Given the description of an element on the screen output the (x, y) to click on. 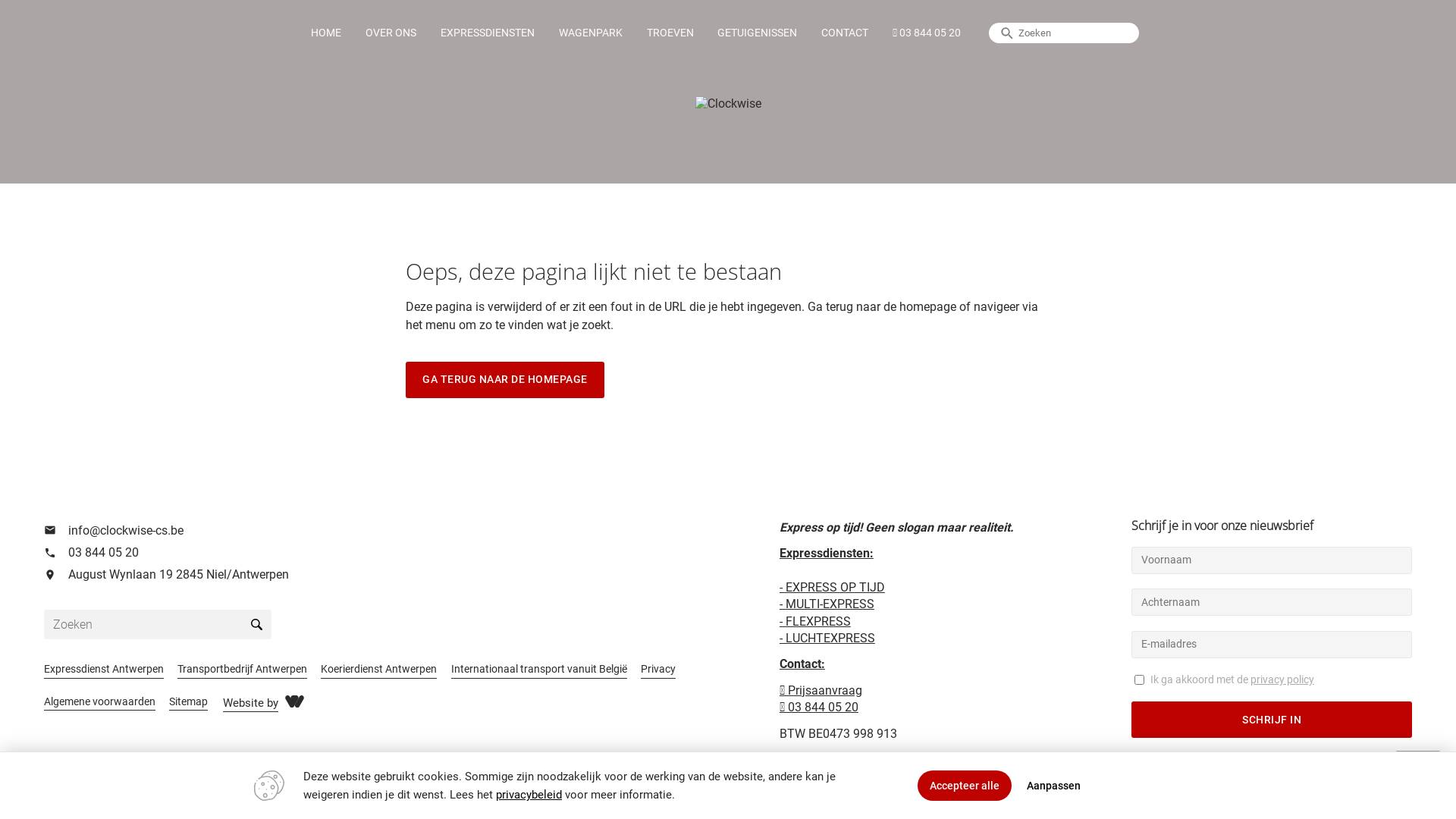
phone
03 844 05 20 Element type: text (384, 552)
- EXPRESS OP TIJD Element type: text (831, 587)
CONTACT Element type: text (844, 32)
Sitemap Element type: text (188, 700)
privacybeleid Element type: text (528, 794)
EXPRESSDIENSTEN Element type: text (487, 32)
-  Element type: text (782, 621)
- LUCHTEXPRESS Element type: text (827, 637)
MULTI-EXPRESS Element type: text (829, 603)
Aanpassen Element type: text (1053, 785)
Accepteer alle Element type: text (964, 785)
Website by Element type: text (250, 701)
Algemene voorwaarden Element type: text (99, 700)
Clockwise Element type: hover (727, 103)
GA TERUG NAAR DE HOMEPAGE Element type: text (504, 379)
privacy policy Element type: text (1282, 679)
TROEVEN Element type: text (670, 32)
Koerierdienst Antwerpen Element type: text (378, 667)
-  Element type: text (782, 603)
mail
info@clockwise-cs.be Element type: text (384, 530)
Schrijf je in voor onze nieuwsbrief Element type: text (1271, 529)
Webhero Element type: hover (294, 700)
Transportbedrijf Antwerpen Element type: text (242, 667)
Privacy Element type: text (657, 667)
GETUIGENISSEN Element type: text (757, 32)
location_on
August Wynlaan 19 2845 Niel/Antwerpen Element type: text (384, 574)
FLEXPRESS Element type: text (817, 621)
Expressdienst Antwerpen Element type: text (103, 667)
OVER ONS Element type: text (390, 32)
WAGENPARK Element type: text (590, 32)
HOME Element type: text (326, 32)
